Given the description of an element on the screen output the (x, y) to click on. 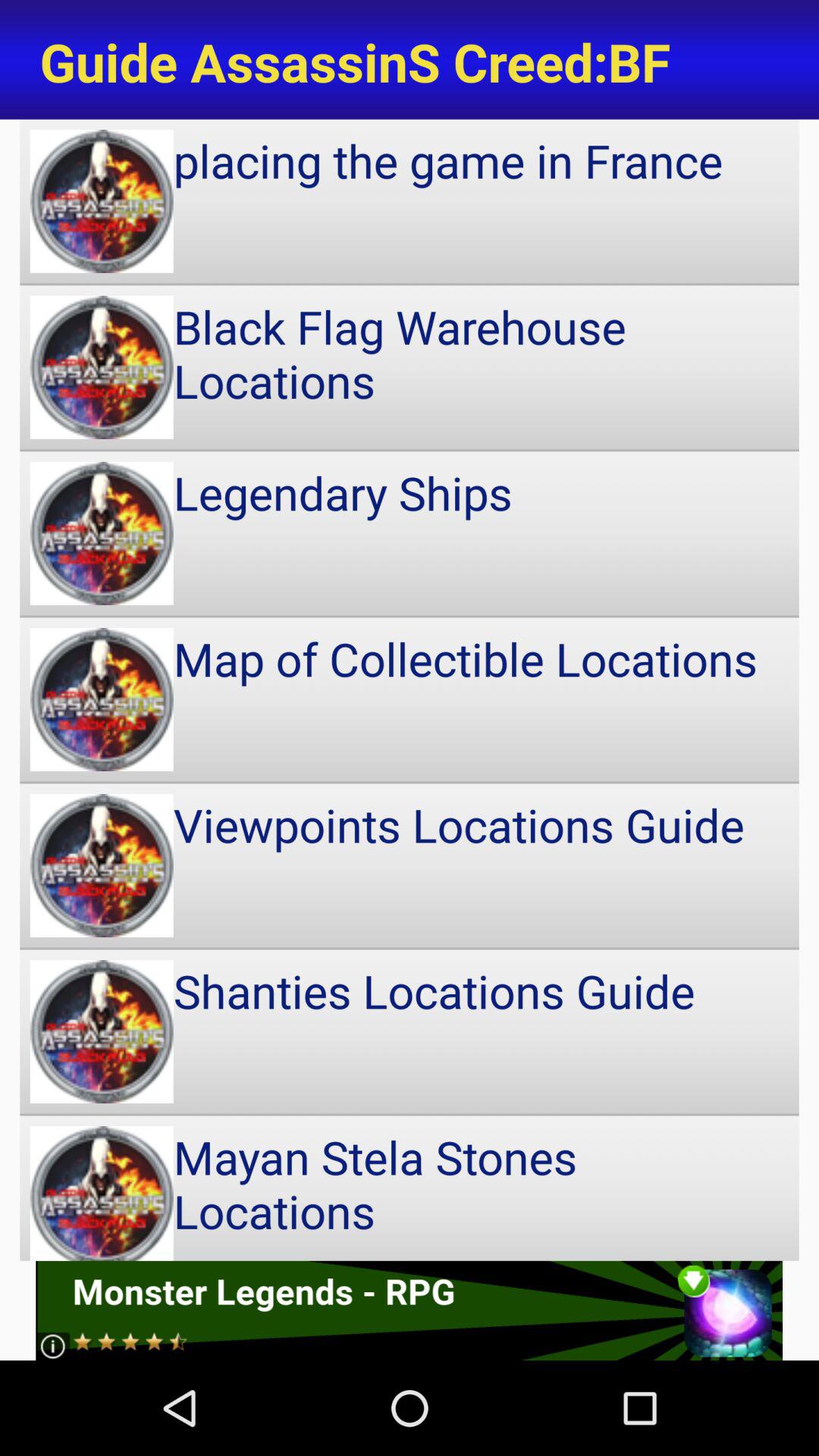
turn on the mayan stela stones icon (409, 1187)
